Given the description of an element on the screen output the (x, y) to click on. 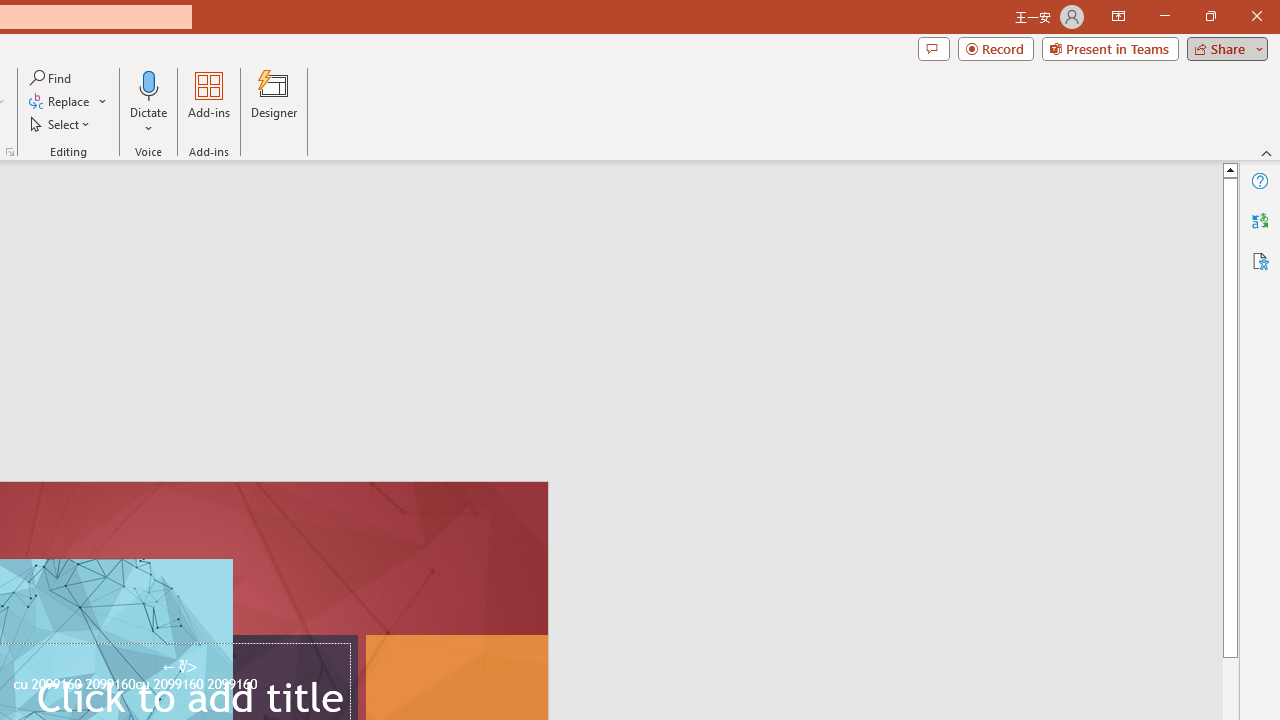
TextBox 61 (186, 686)
Select (61, 124)
